Given the description of an element on the screen output the (x, y) to click on. 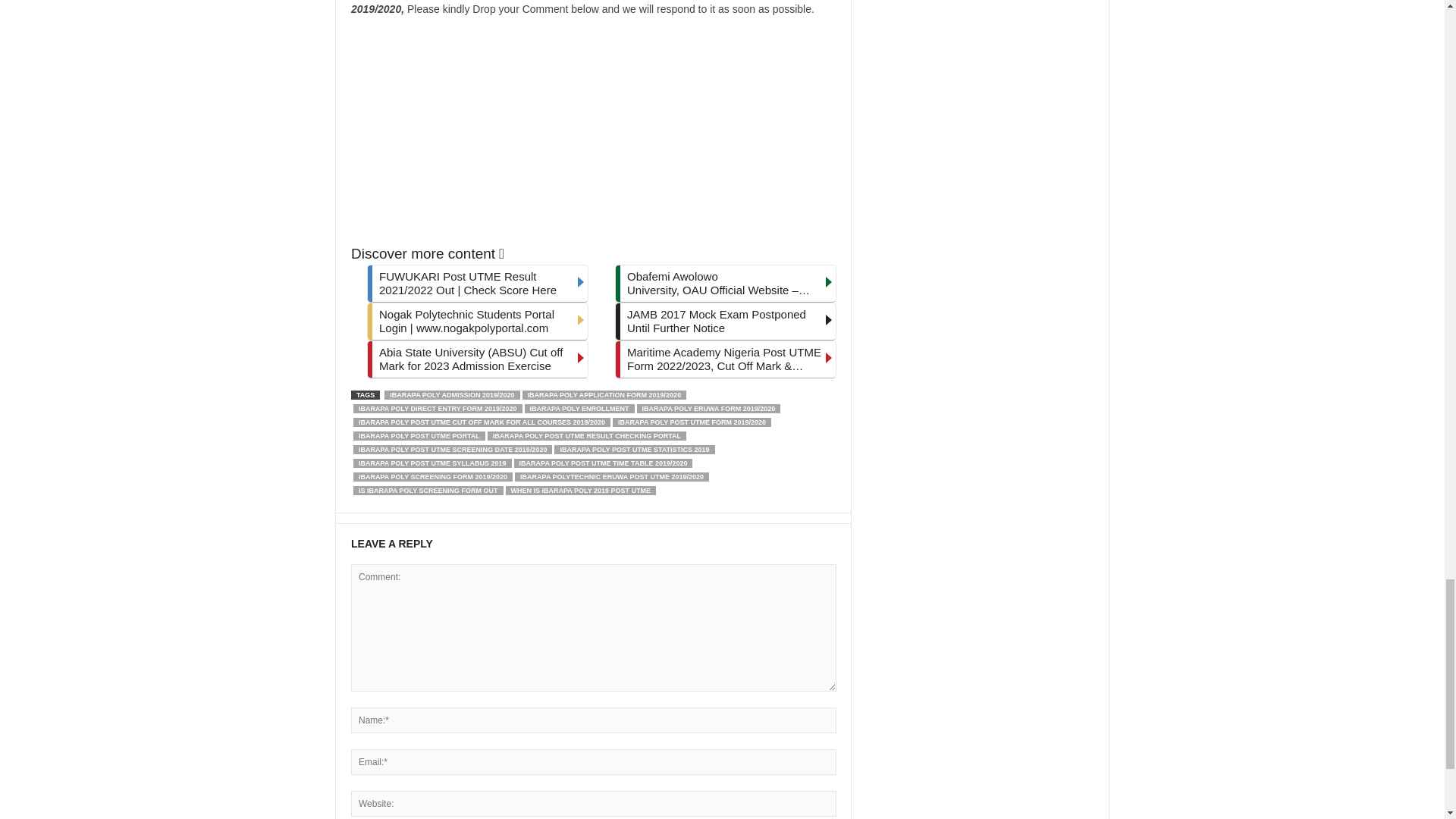
IBARAPA POLY ENROLLMENT (579, 408)
Advertisement (592, 130)
JAMB 2017 Mock Exam Postponed Until Further Notice (724, 321)
IBARAPA POLY POST UTME STATISTICS 2019 (634, 449)
IBARAPA POLY POST UTME PORTAL (418, 435)
IBARAPA POLY POST UTME SYLLABUS 2019 (432, 462)
IBARAPA POLY POST UTME RESULT CHECKING PORTAL (586, 435)
